Given the description of an element on the screen output the (x, y) to click on. 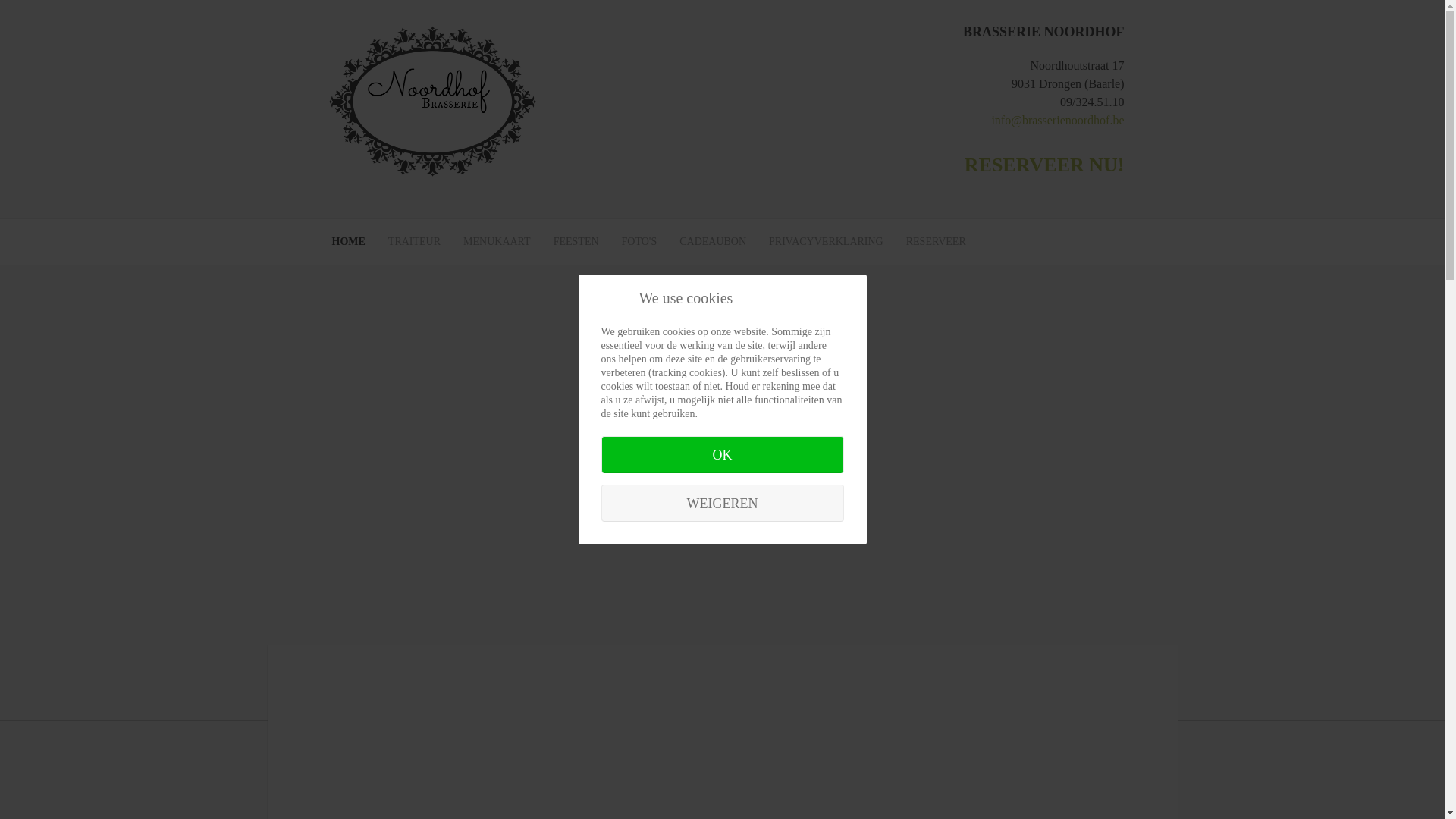
PRIVACYVERKLARING Element type: text (825, 240)
RESERVEER Element type: text (935, 240)
CADEAUBON Element type: text (712, 240)
info@brasserienoordhof.be Element type: text (1057, 119)
OK Element type: text (721, 454)
MENUKAART Element type: text (496, 240)
HOME Element type: text (348, 240)
WEIGEREN Element type: text (721, 502)
RESERVEER NU! Element type: text (1044, 164)
TRAITEUR Element type: text (413, 240)
FEESTEN Element type: text (576, 240)
FOTO'S Element type: text (639, 240)
